Given the description of an element on the screen output the (x, y) to click on. 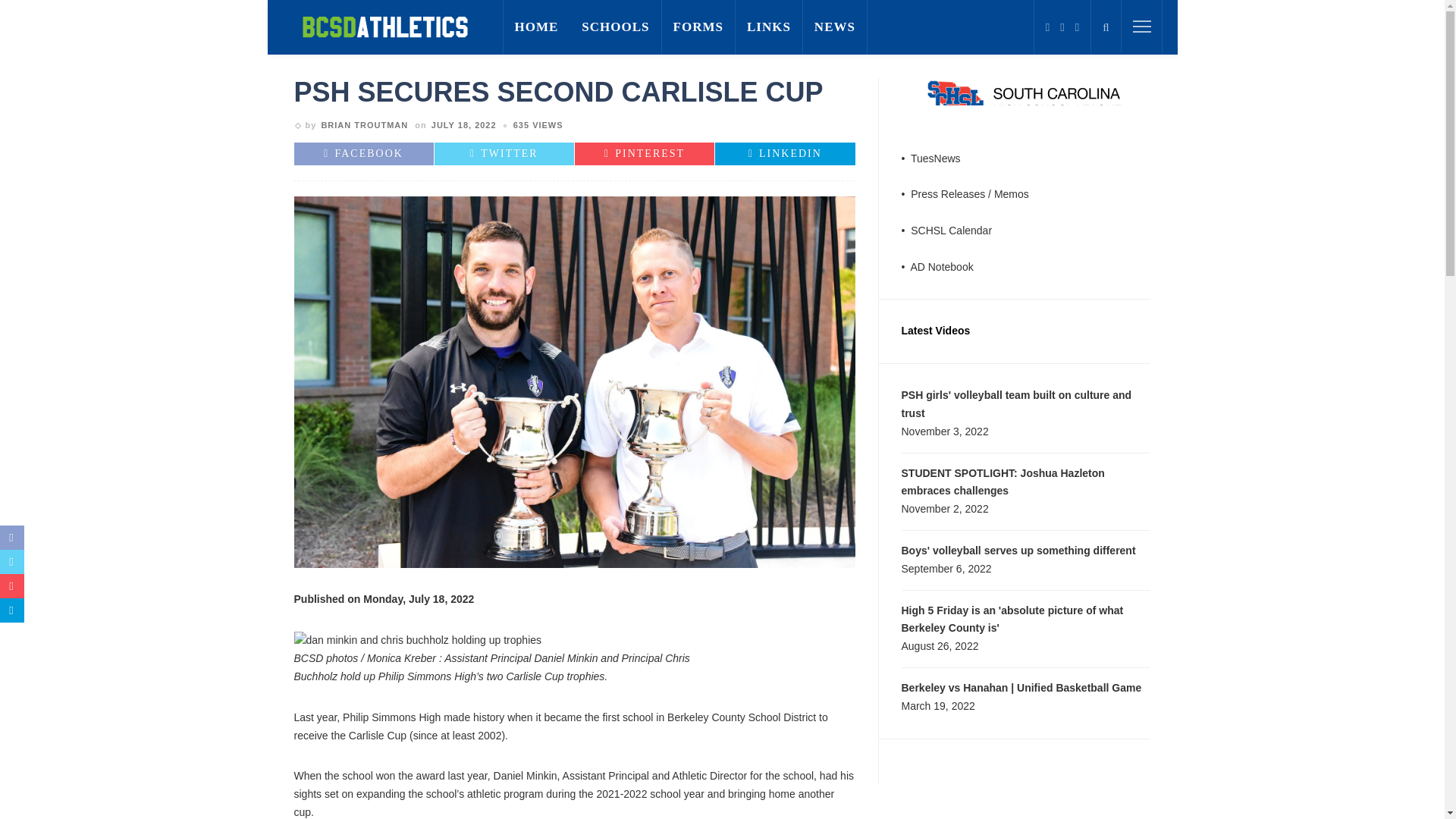
Berkeley County District Athletics (384, 26)
HOME (536, 27)
FORMS (698, 27)
SCHOOLS (615, 27)
PSH secures second Carlisle Cup (538, 124)
